Given the description of an element on the screen output the (x, y) to click on. 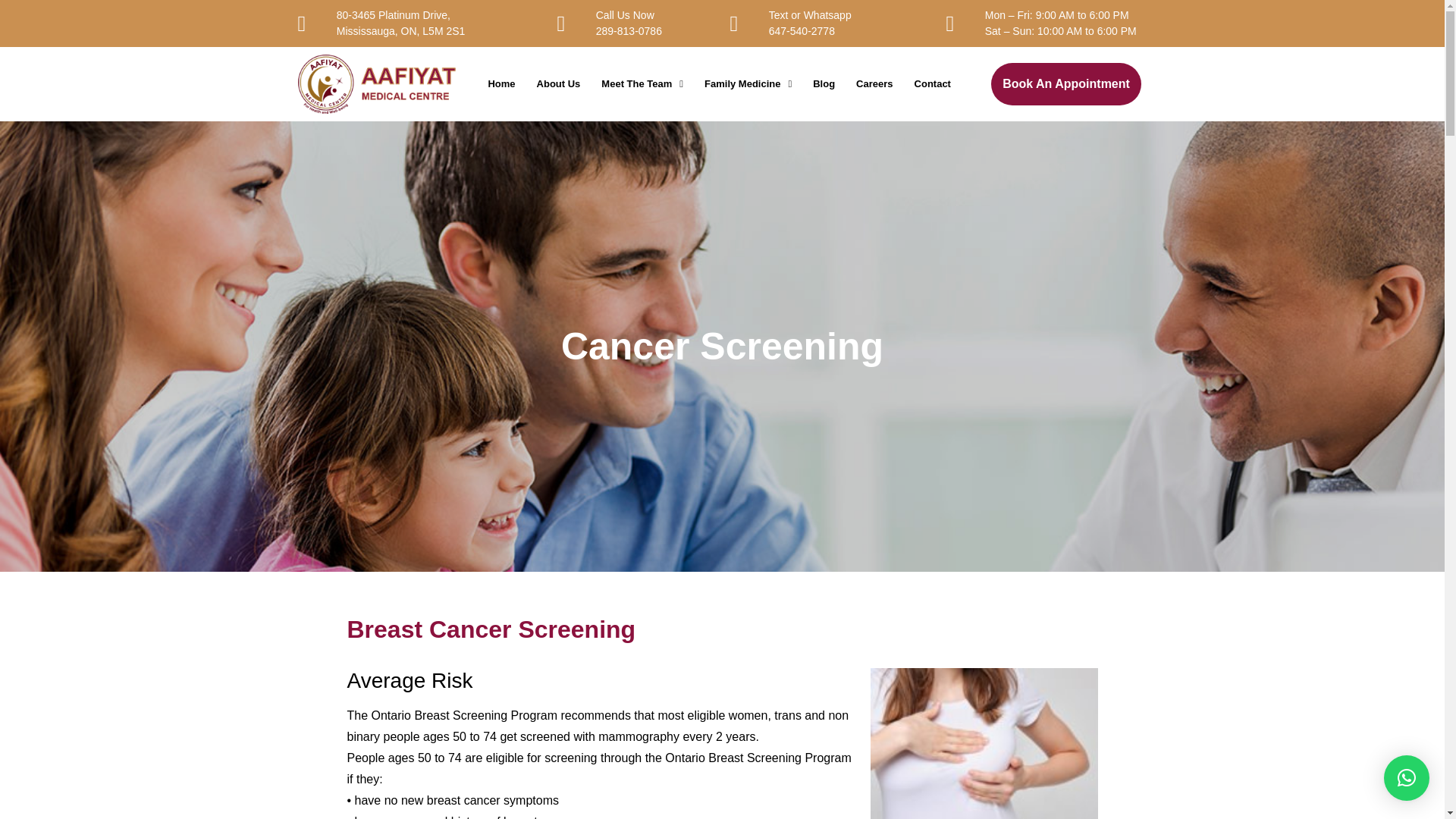
Family Medicine (635, 23)
About Us (748, 83)
Home (558, 83)
Meet The Team (501, 83)
